Given the description of an element on the screen output the (x, y) to click on. 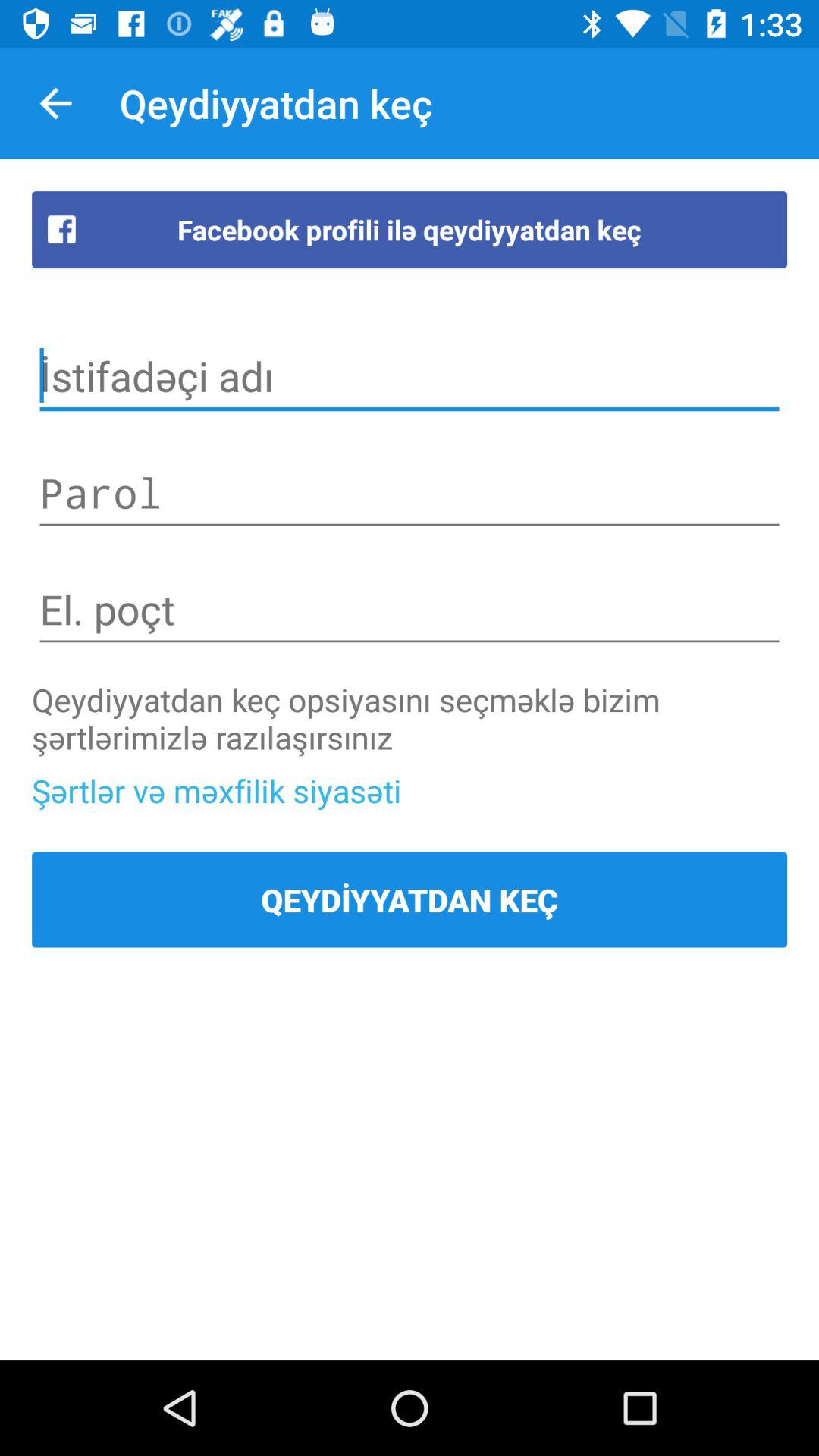
tap icon at the top left corner (55, 103)
